Given the description of an element on the screen output the (x, y) to click on. 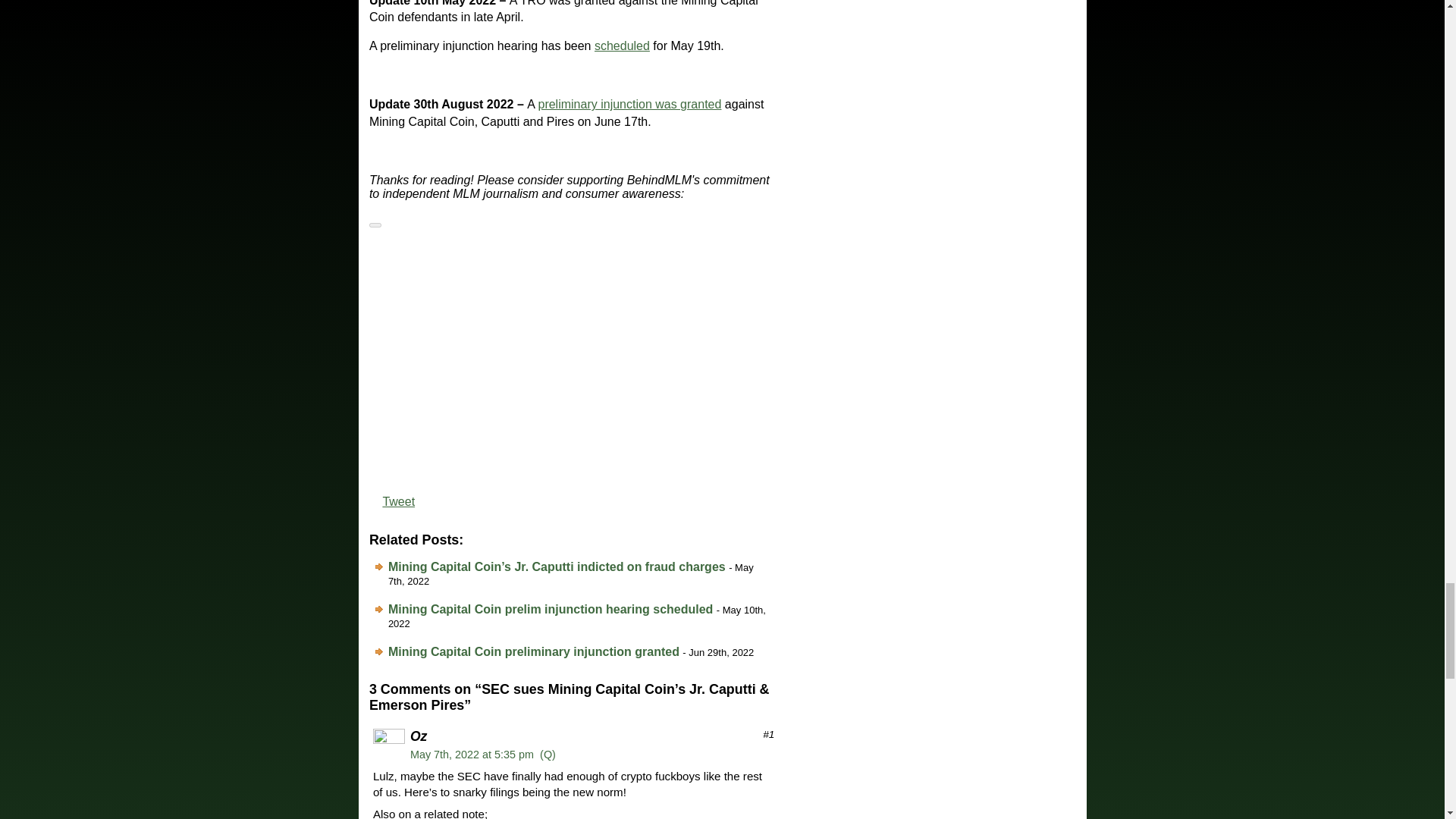
May 7th, 2022 at 5:35 pm (472, 754)
Mining Capital Coin prelim injunction hearing scheduled (550, 608)
Tweet (397, 501)
scheduled (621, 45)
Click here or select text to quote comment (548, 754)
preliminary injunction was granted (628, 103)
Mining Capital Coin preliminary injunction granted (533, 651)
